Given the description of an element on the screen output the (x, y) to click on. 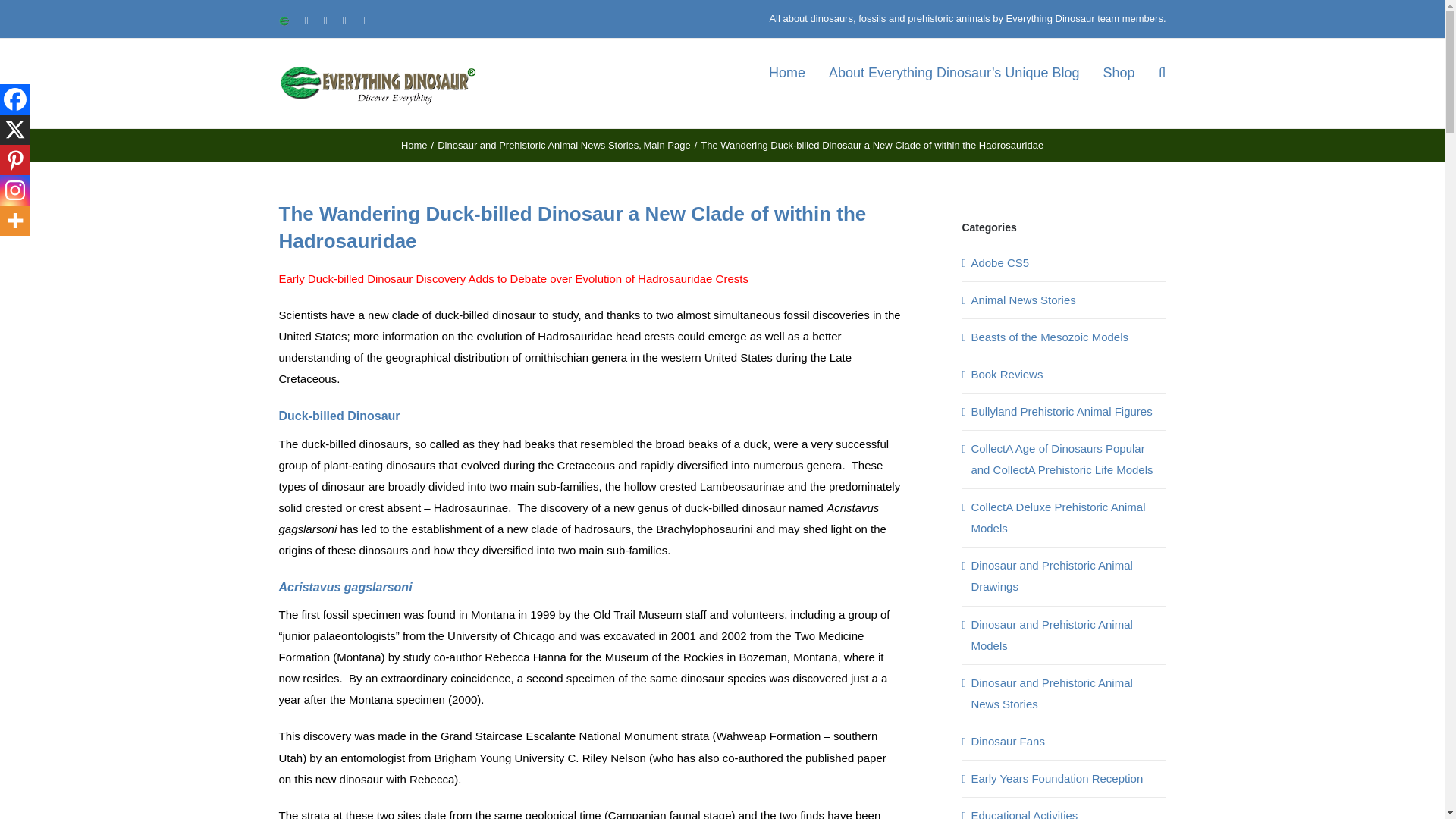
Pinterest (15, 159)
More (15, 220)
Home (414, 144)
Website (284, 20)
Website (284, 20)
X (15, 129)
Dinosaur and Prehistoric Animal News Stories (538, 144)
Instagram (15, 190)
Main Page (666, 144)
Facebook (15, 99)
